Given the description of an element on the screen output the (x, y) to click on. 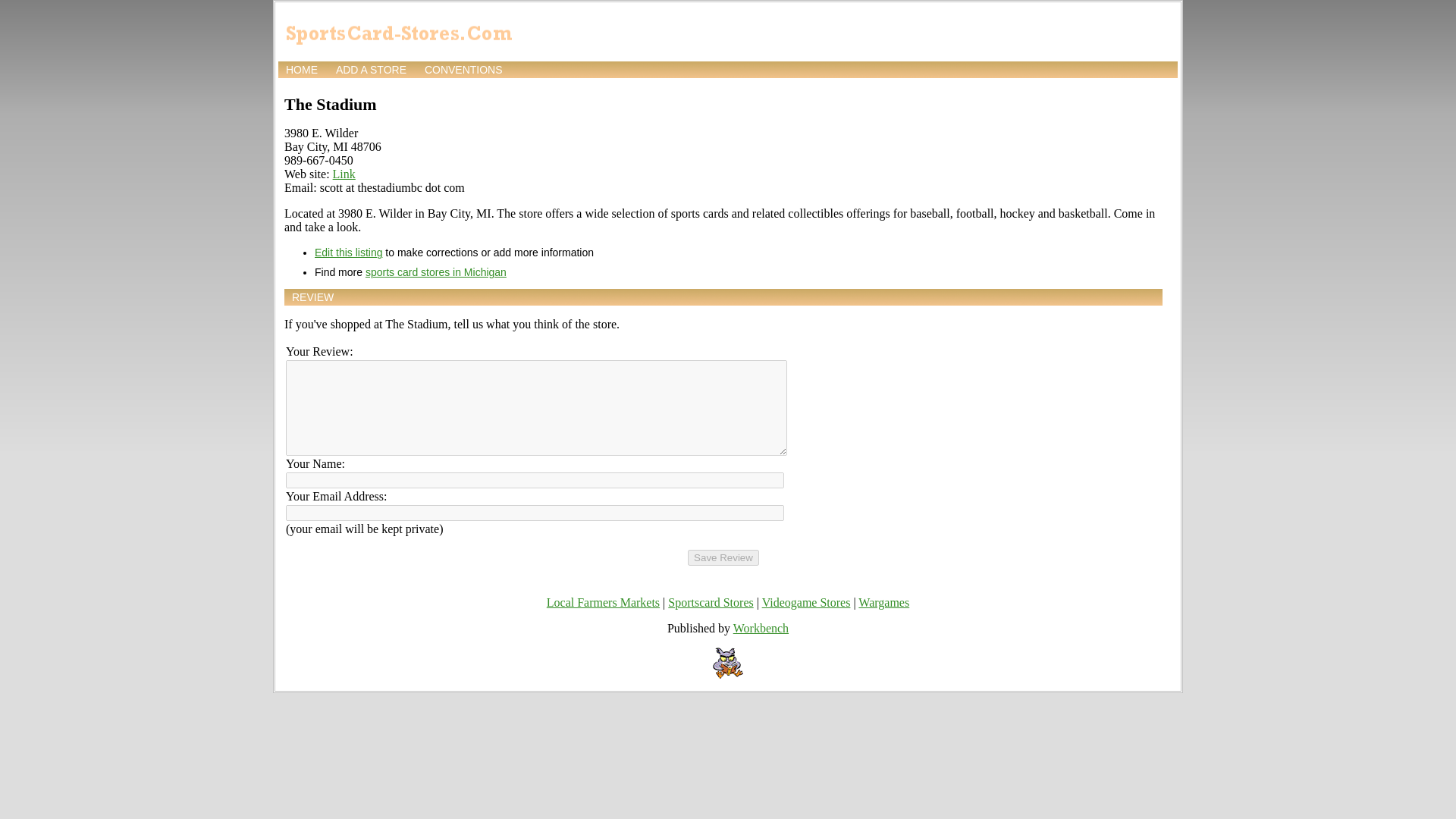
Save Review (722, 557)
Workbench (761, 627)
HOME (301, 69)
CONVENTIONS (463, 69)
Local Farmers Markets (603, 602)
Save Review (722, 557)
Sportscard Stores (710, 602)
Link (344, 173)
ADD A STORE (371, 69)
Wargames (883, 602)
Edit this listing (347, 252)
sports card stores in Michigan (435, 272)
Videogame Stores (805, 602)
